Given the description of an element on the screen output the (x, y) to click on. 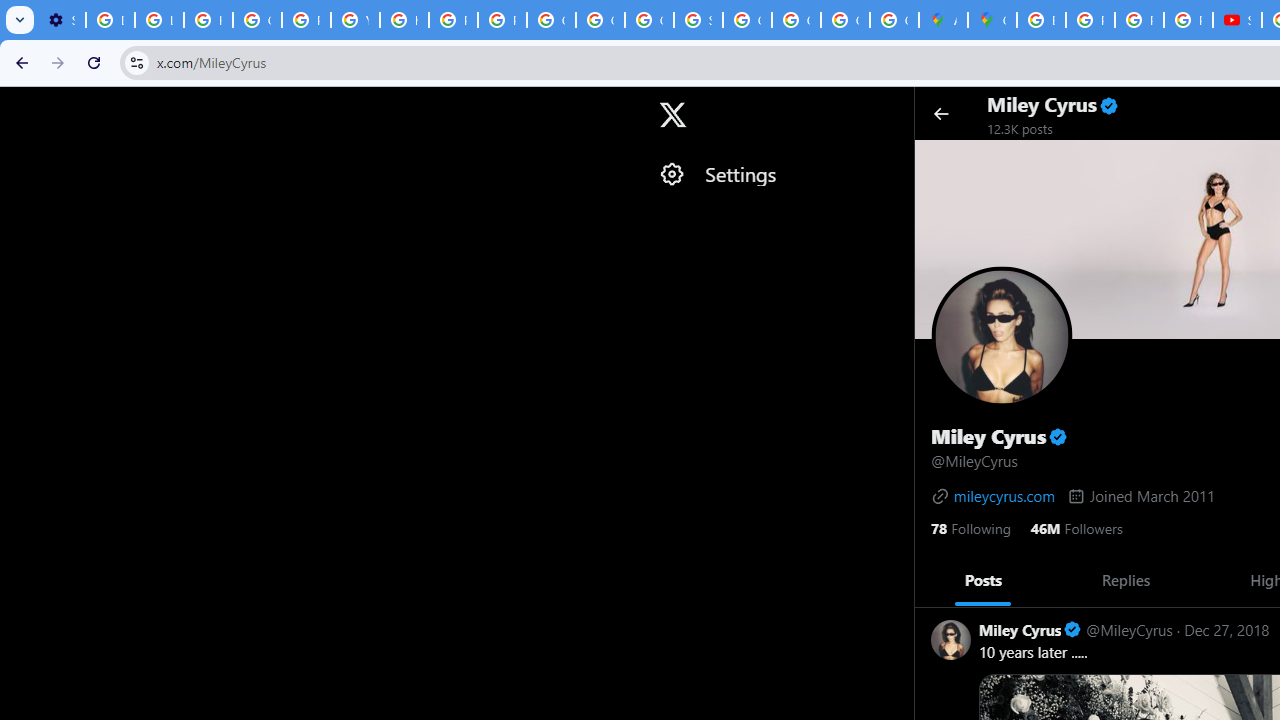
Provides details about verified accounts. (1058, 436)
Miley Cyrus Verified account (1030, 629)
